Given the description of an element on the screen output the (x, y) to click on. 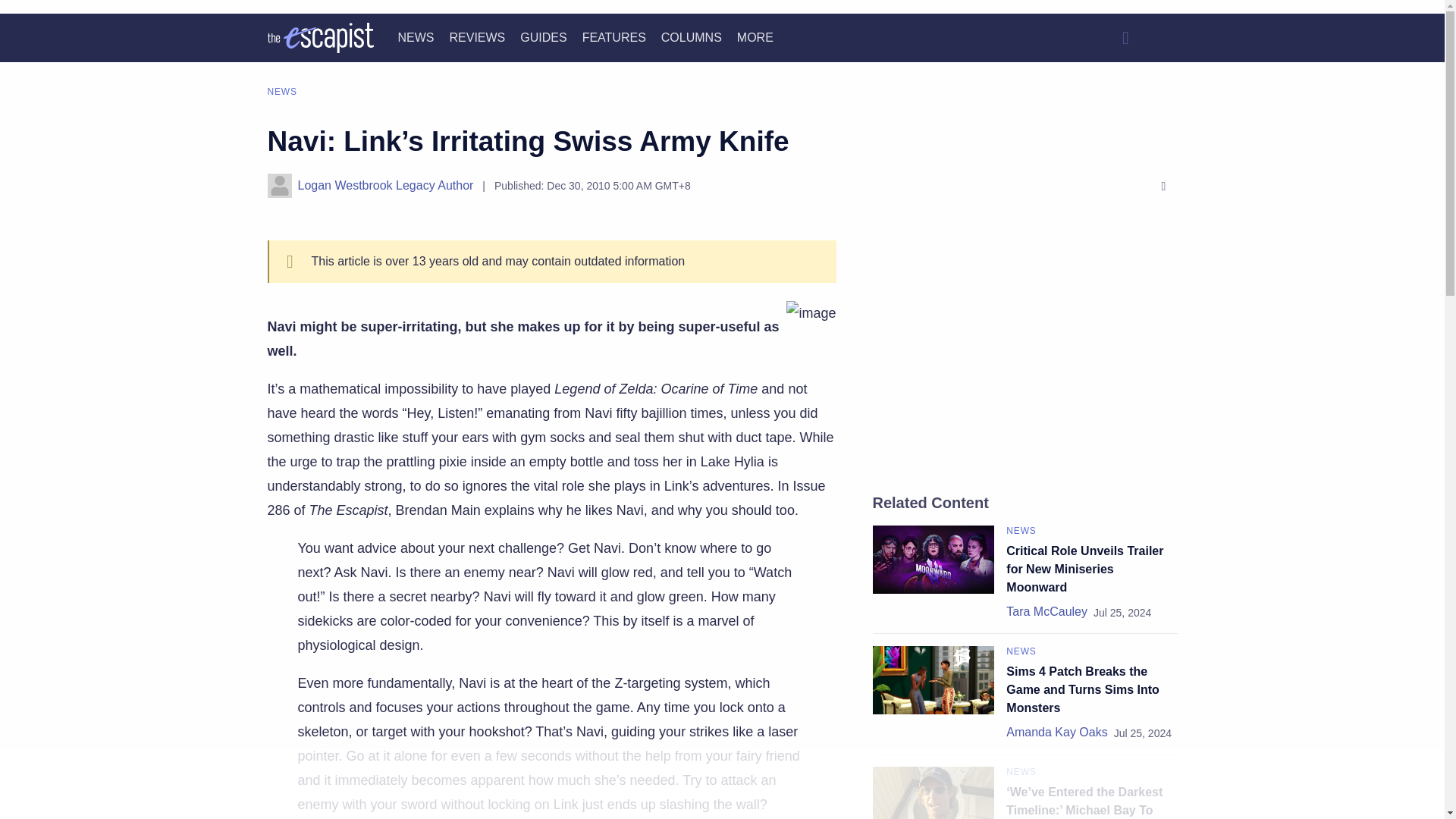
Dark Mode (1161, 37)
REVIEWS (476, 37)
3rd party ad content (1024, 353)
GUIDES (542, 37)
COLUMNS (691, 37)
3rd party ad content (721, 785)
NEWS (415, 37)
FEATURES (614, 37)
Search (1124, 37)
